Given the description of an element on the screen output the (x, y) to click on. 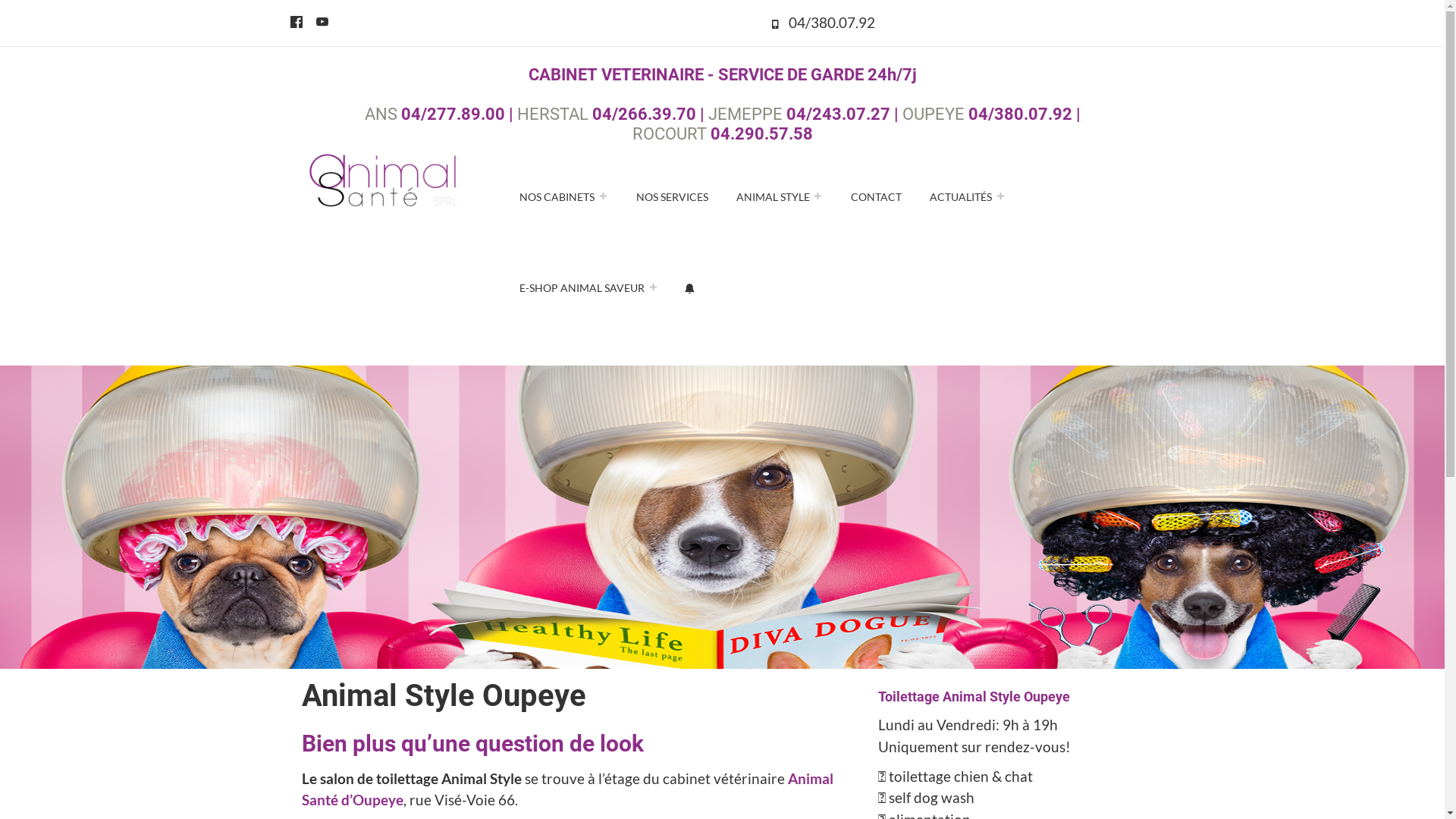
04/243.07.27 Element type: text (837, 113)
CONTACT Element type: text (876, 196)
04/380.07.92 Element type: text (831, 22)
04/380.07.92 Element type: text (1019, 113)
04/277.89.00 Element type: text (452, 113)
ANIMAL STYLE Element type: text (779, 196)
04/266.39.70 Element type: text (643, 113)
NOS CABINETS Element type: text (563, 196)
04.290.57.58 Element type: text (760, 133)
NOS SERVICES Element type: text (671, 196)
Book Appointment Element type: hover (690, 287)
E-SHOP ANIMAL SAVEUR Element type: text (588, 287)
